Given the description of an element on the screen output the (x, y) to click on. 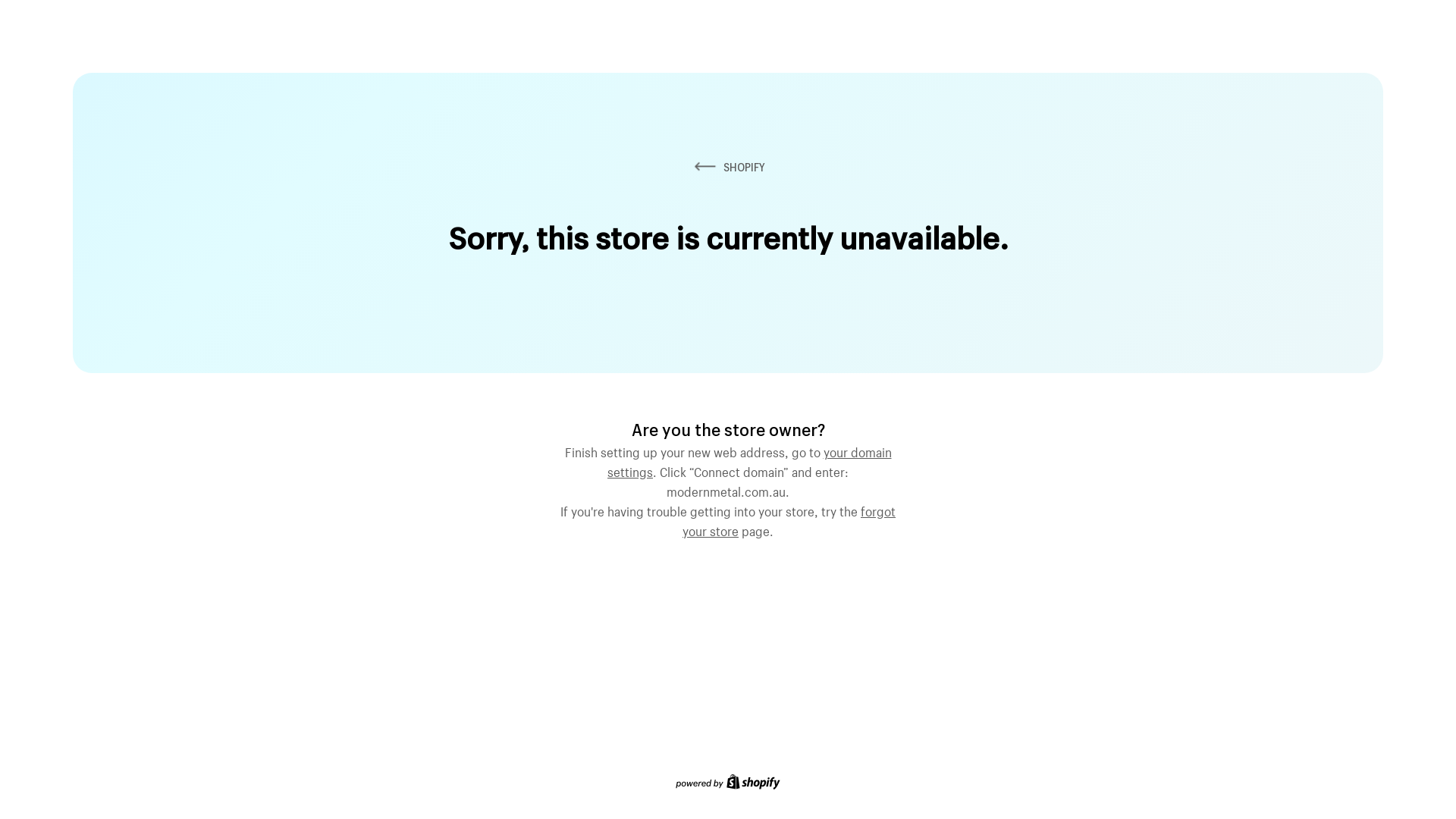
your domain settings Element type: text (749, 460)
forgot your store Element type: text (788, 519)
SHOPIFY Element type: text (727, 167)
